Given the description of an element on the screen output the (x, y) to click on. 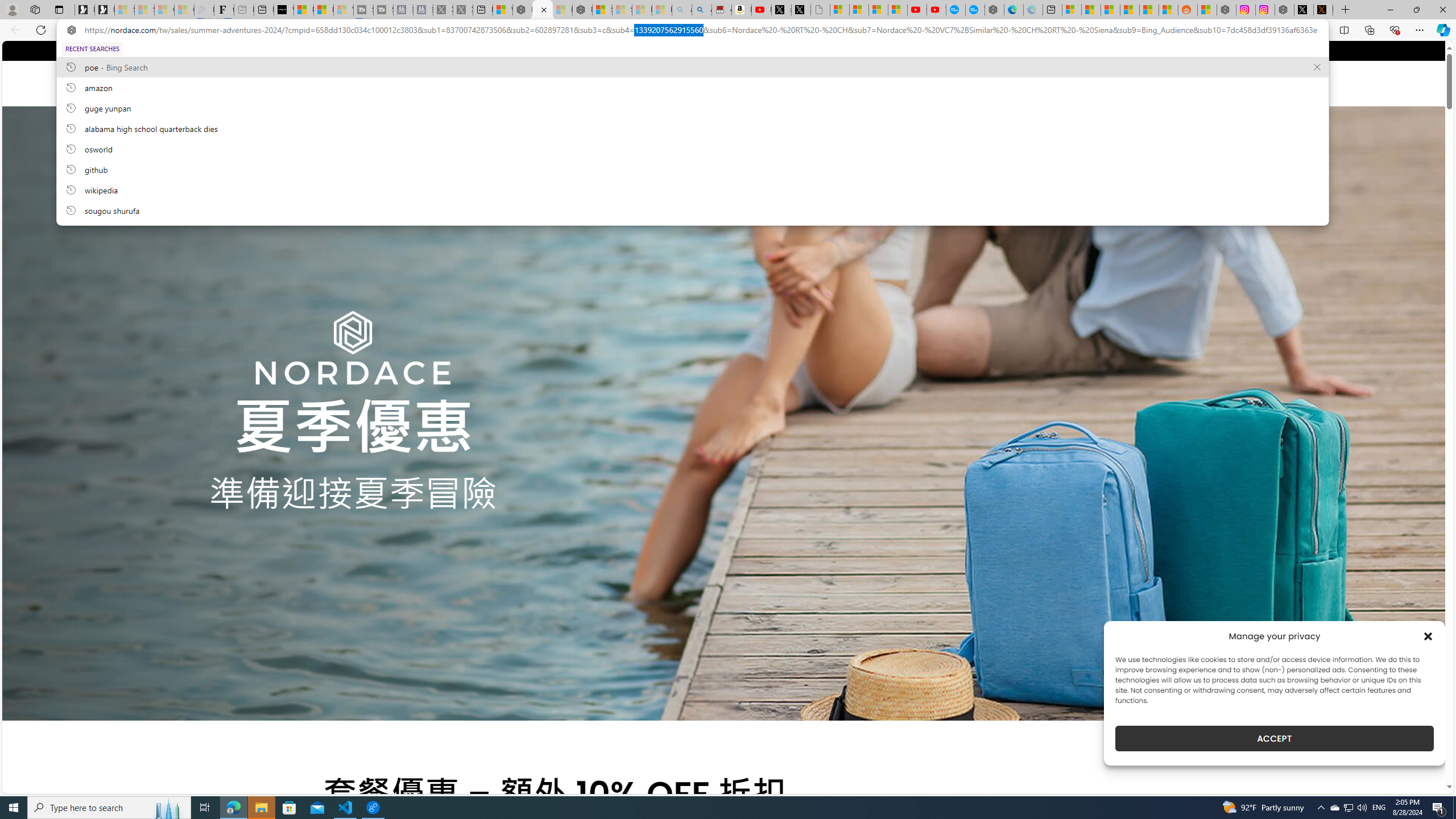
Follow on Pinterest (360, 50)
osworld, recent searches from history (691, 148)
Close tab (543, 9)
Tab actions menu (58, 9)
Follow on Facebook (327, 50)
Class: cmplz-close (1428, 636)
Microsoft Start Sports (303, 9)
The most popular Google 'how to' searches (975, 9)
